Given the description of an element on the screen output the (x, y) to click on. 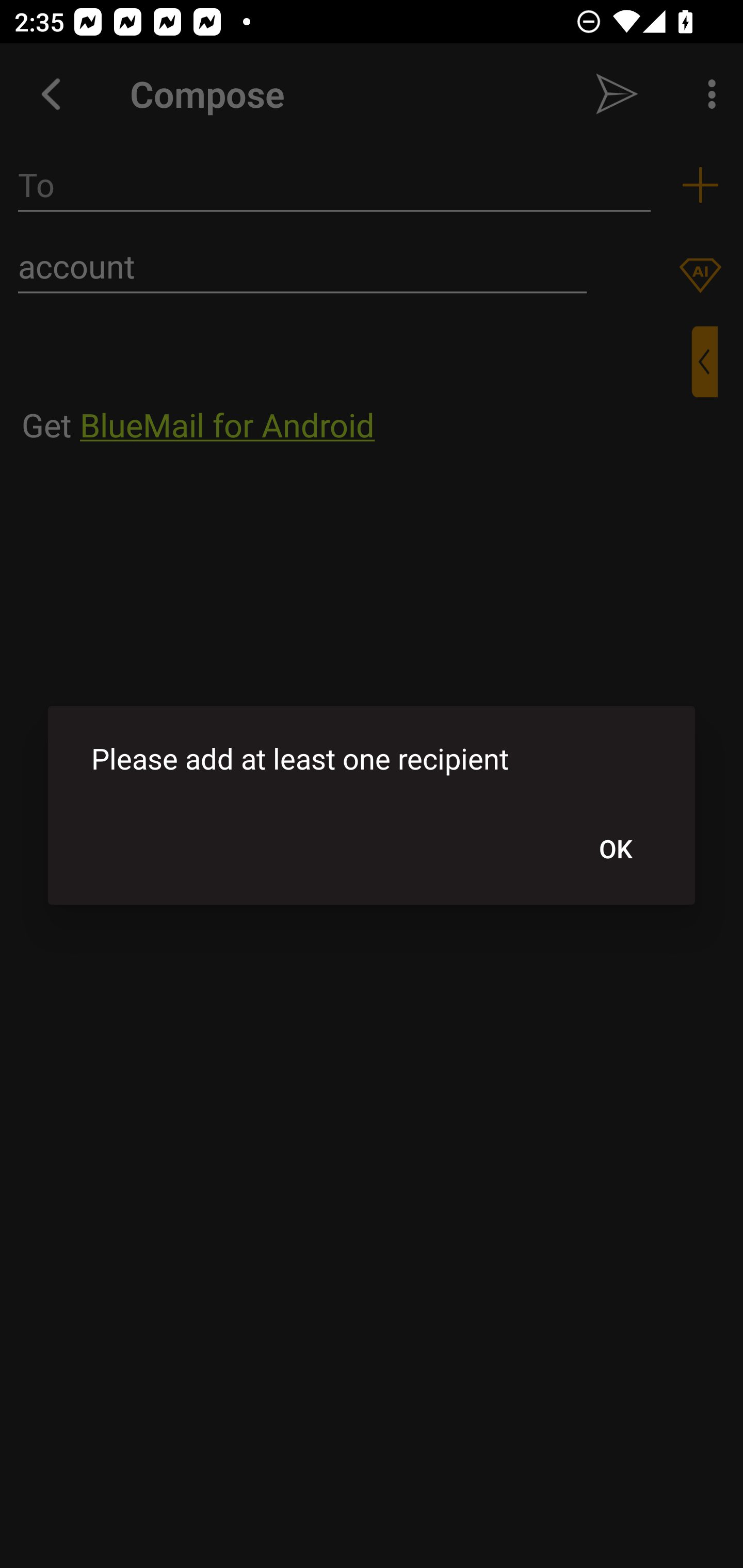
OK (615, 847)
